Given the description of an element on the screen output the (x, y) to click on. 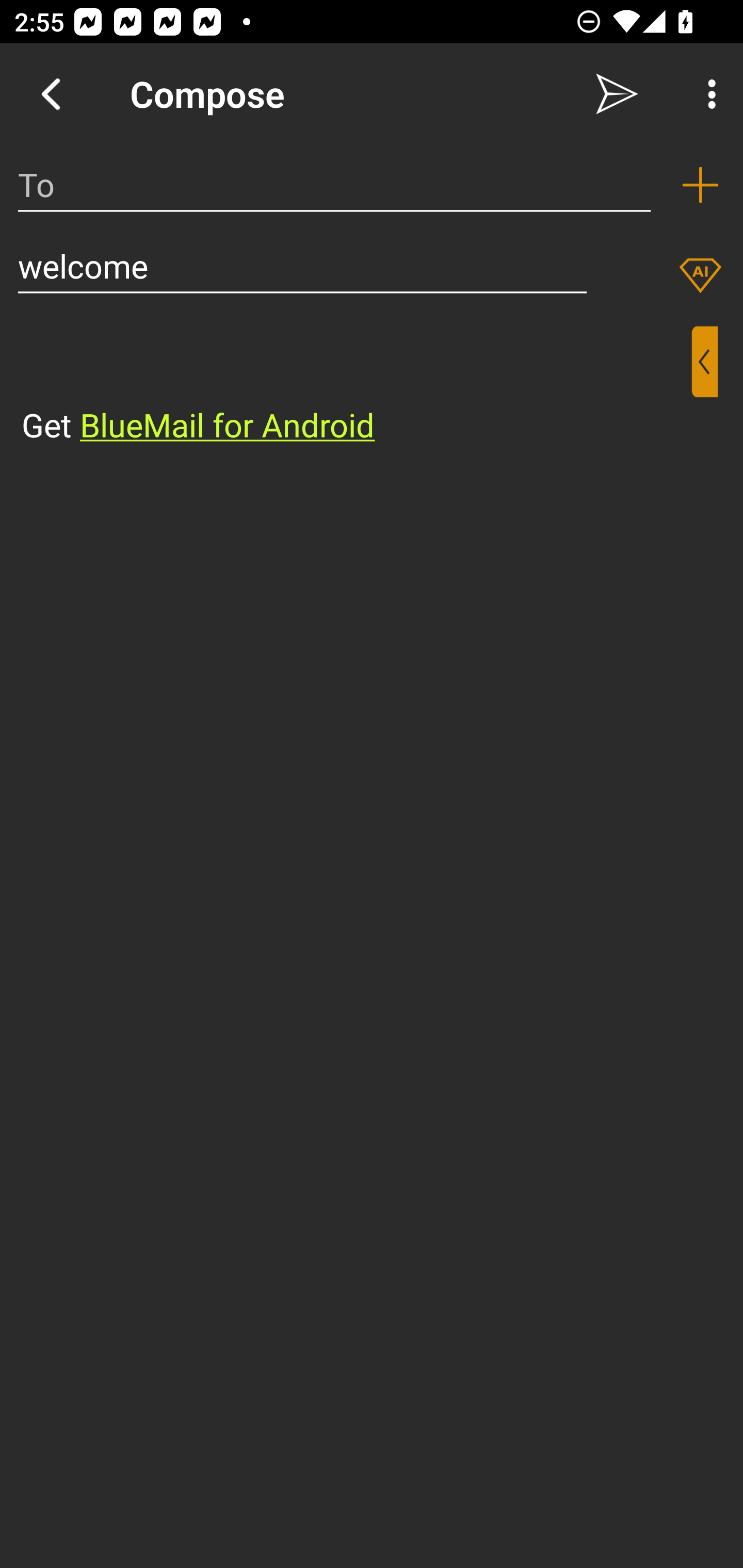
Navigate up (50, 93)
Send (616, 93)
More Options (706, 93)
To (334, 184)
Add recipient (To) (699, 184)
welcome (302, 266)


⁣Get BlueMail for Android ​ (355, 386)
